Given the description of an element on the screen output the (x, y) to click on. 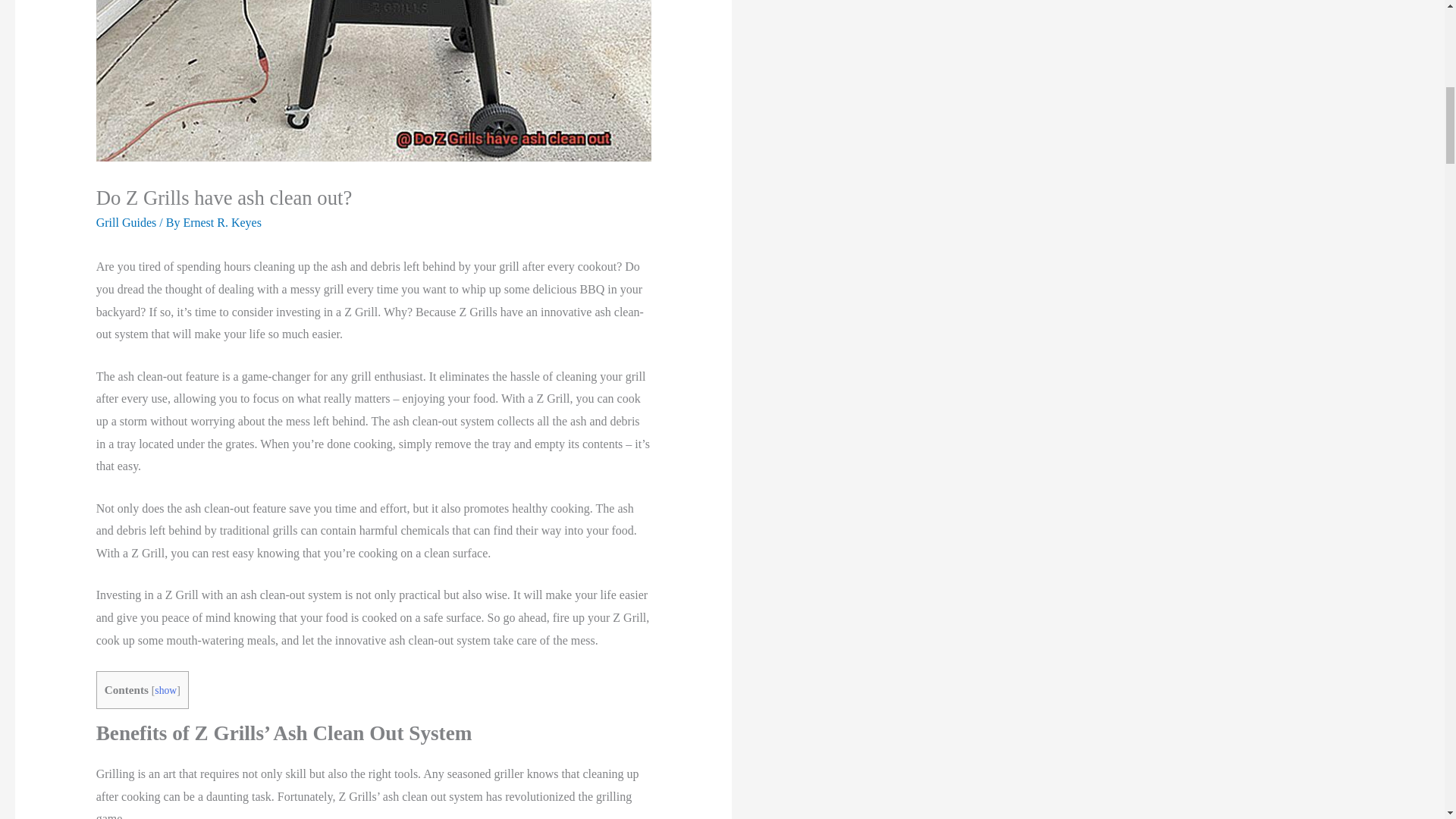
Grill Guides (126, 222)
show (165, 690)
Ernest R. Keyes (222, 222)
View all posts by Ernest R. Keyes (222, 222)
